Given the description of an element on the screen output the (x, y) to click on. 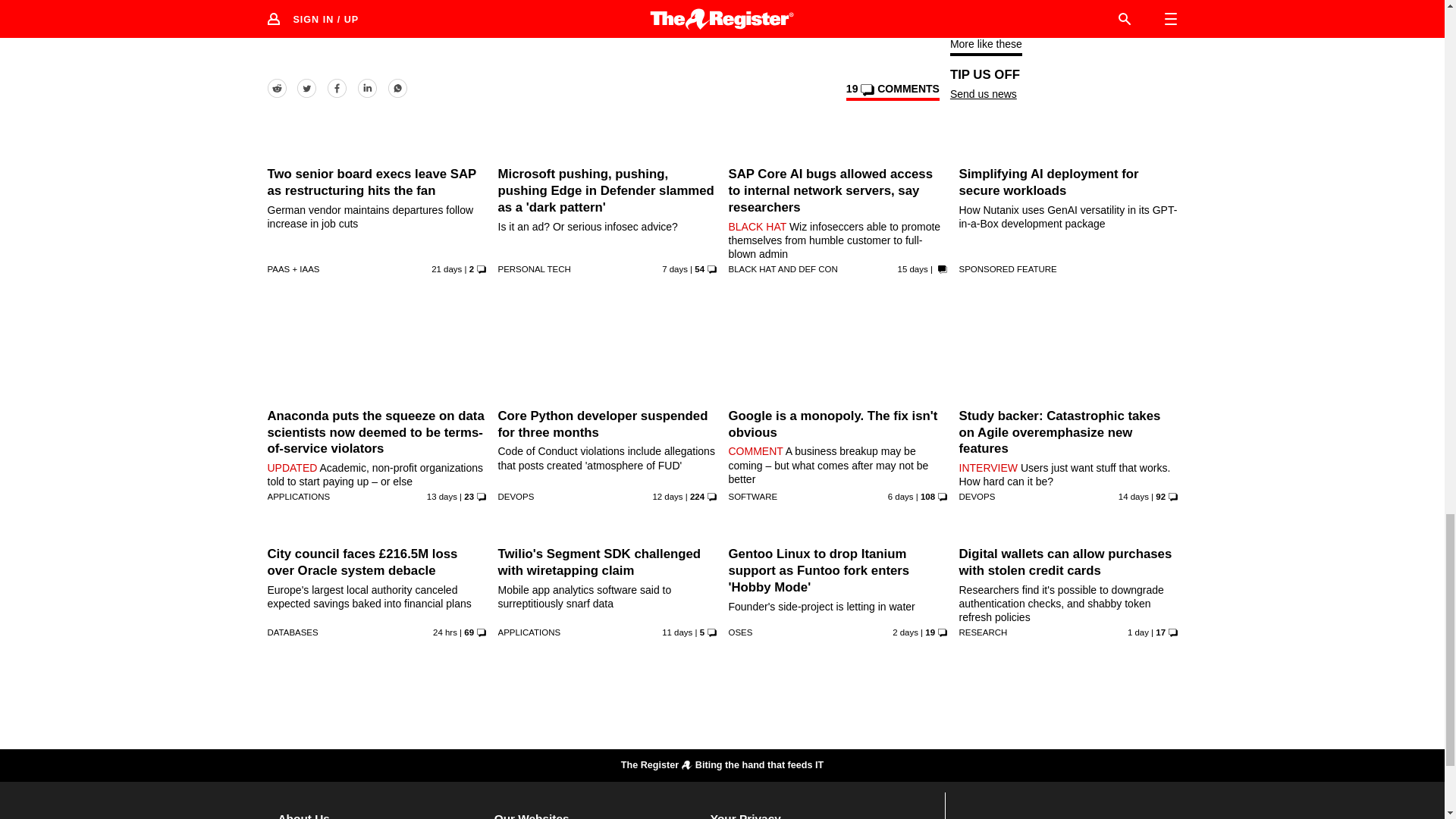
9 Aug 2024 11:44 (667, 496)
15 Aug 2024 11:28 (901, 496)
14 Aug 2024 7:30 (674, 268)
31 Jul 2024 15:45 (445, 268)
View comments on this article (892, 91)
7 Aug 2024 9:35 (1133, 496)
6 Aug 2024 17:32 (913, 268)
8 Aug 2024 12:26 (441, 496)
